Given the description of an element on the screen output the (x, y) to click on. 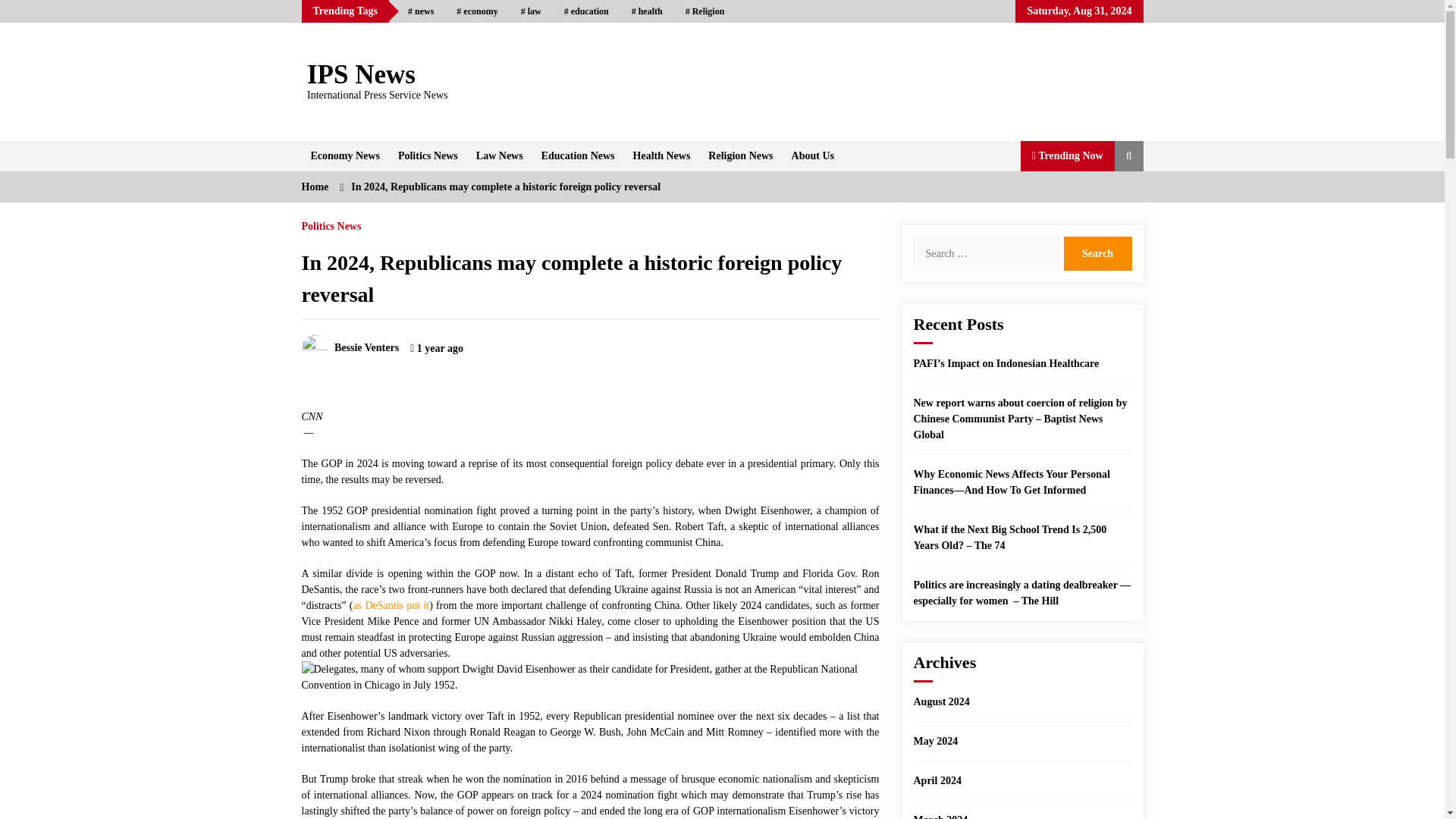
Education News (578, 155)
Religion News (739, 155)
law (531, 11)
Religion (705, 11)
Search (1096, 253)
Law News (499, 155)
economy (476, 11)
news (420, 11)
Economy News (344, 155)
Health News (662, 155)
